Given the description of an element on the screen output the (x, y) to click on. 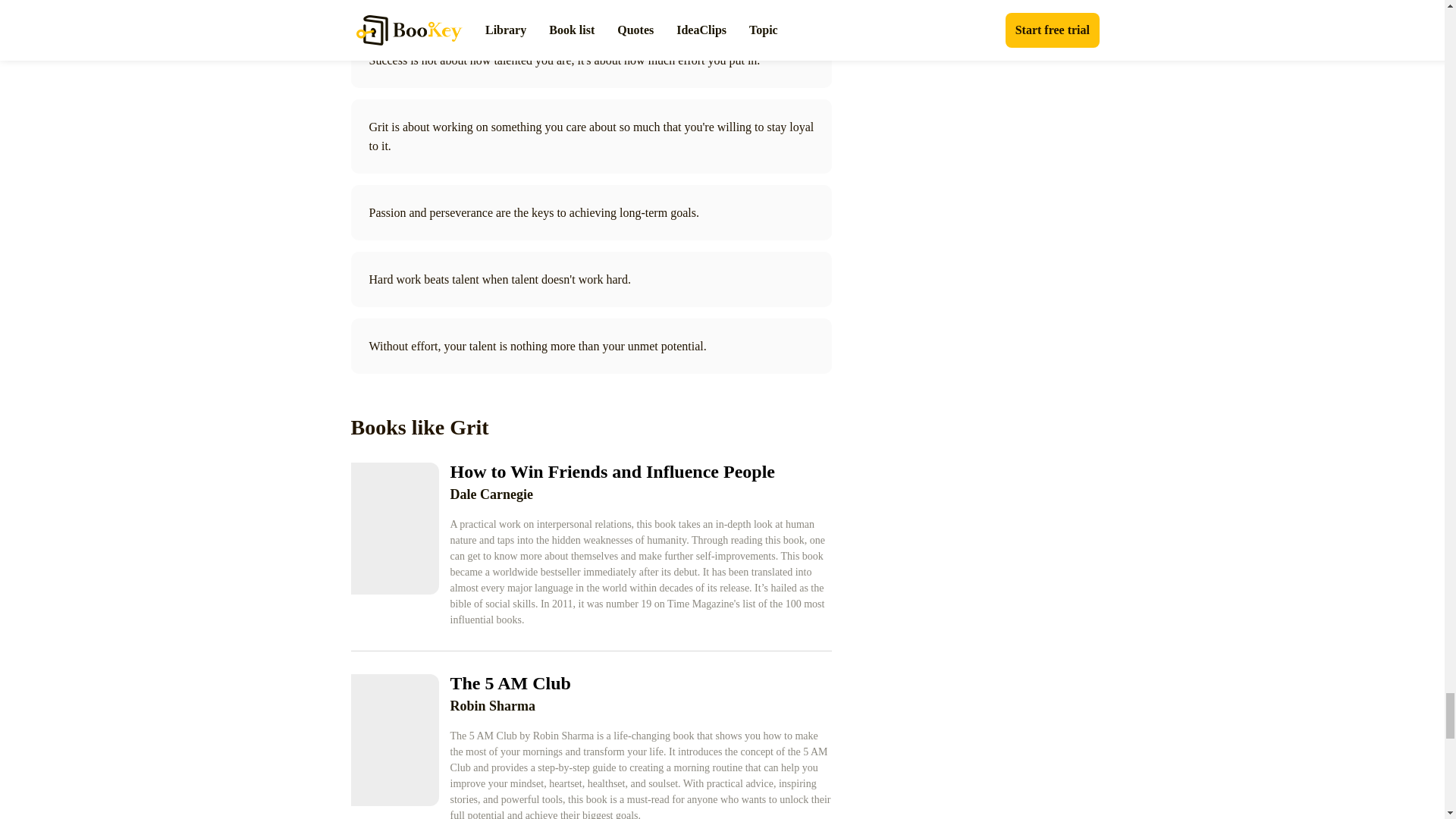
How to Win Friends and Influence People (640, 471)
The 5 AM Club (640, 683)
